Given the description of an element on the screen output the (x, y) to click on. 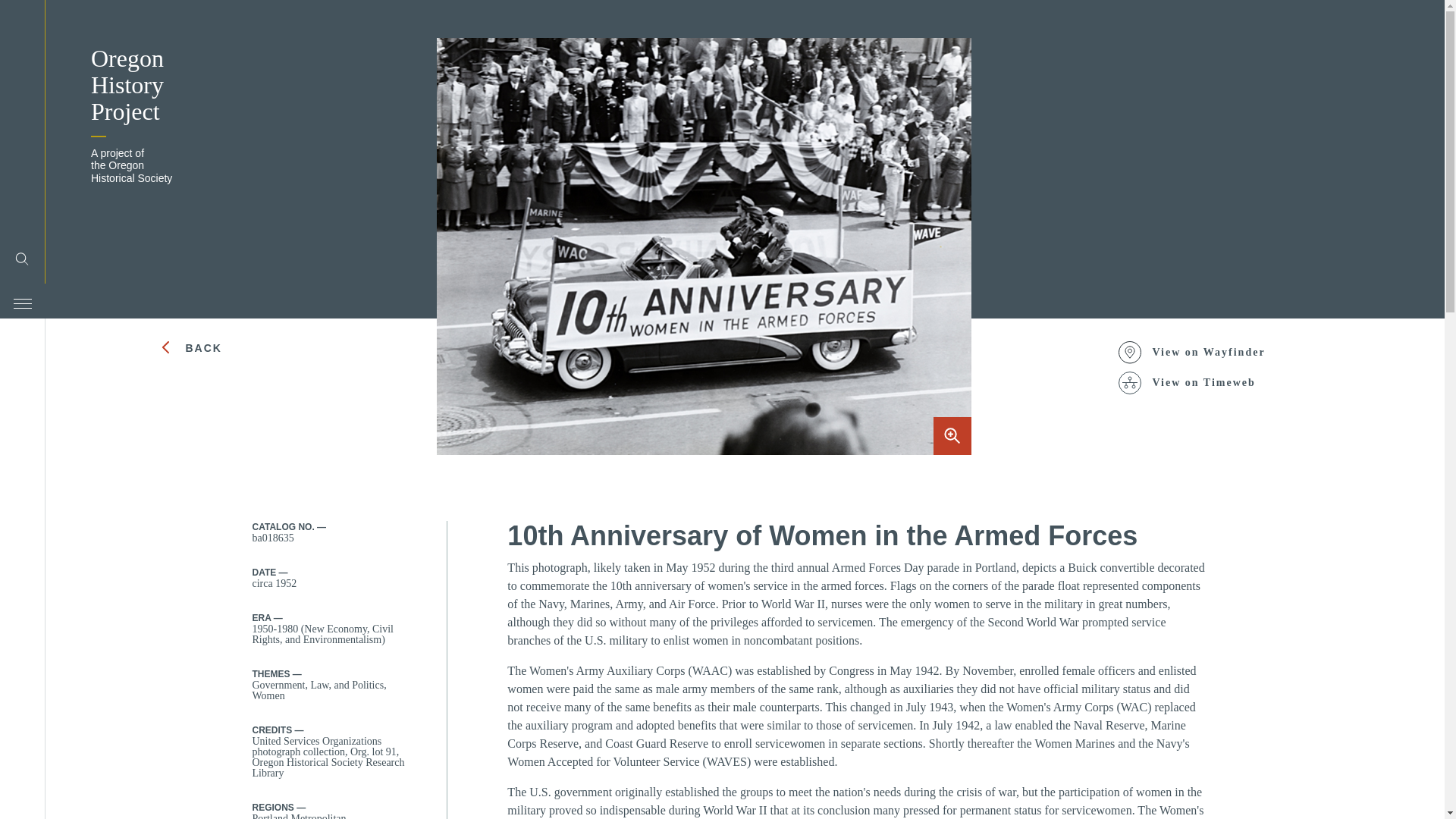
View on Timeweb (1200, 382)
BACK (224, 347)
View on Wayfinder (1200, 352)
